Given the description of an element on the screen output the (x, y) to click on. 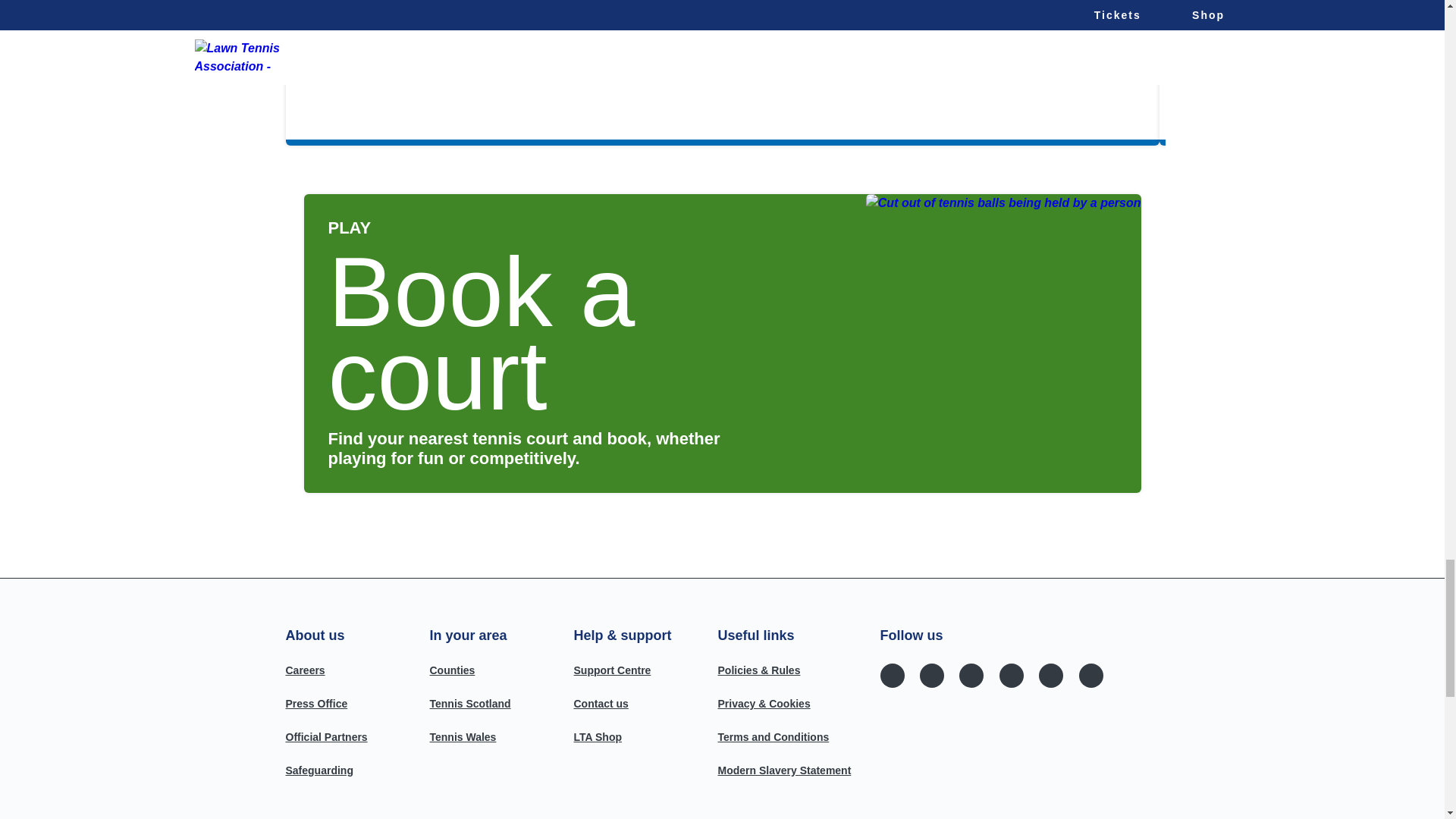
LinkedIn (1090, 674)
LTA Shop (597, 737)
TikTok (1050, 674)
X (971, 675)
YouTube (1010, 675)
Instagram (931, 675)
TikTok (1050, 675)
Facebook (891, 674)
Facebook (891, 675)
Instagram (931, 674)
X (971, 674)
LinkedIn (1090, 675)
YouTube (1010, 674)
